Given the description of an element on the screen output the (x, y) to click on. 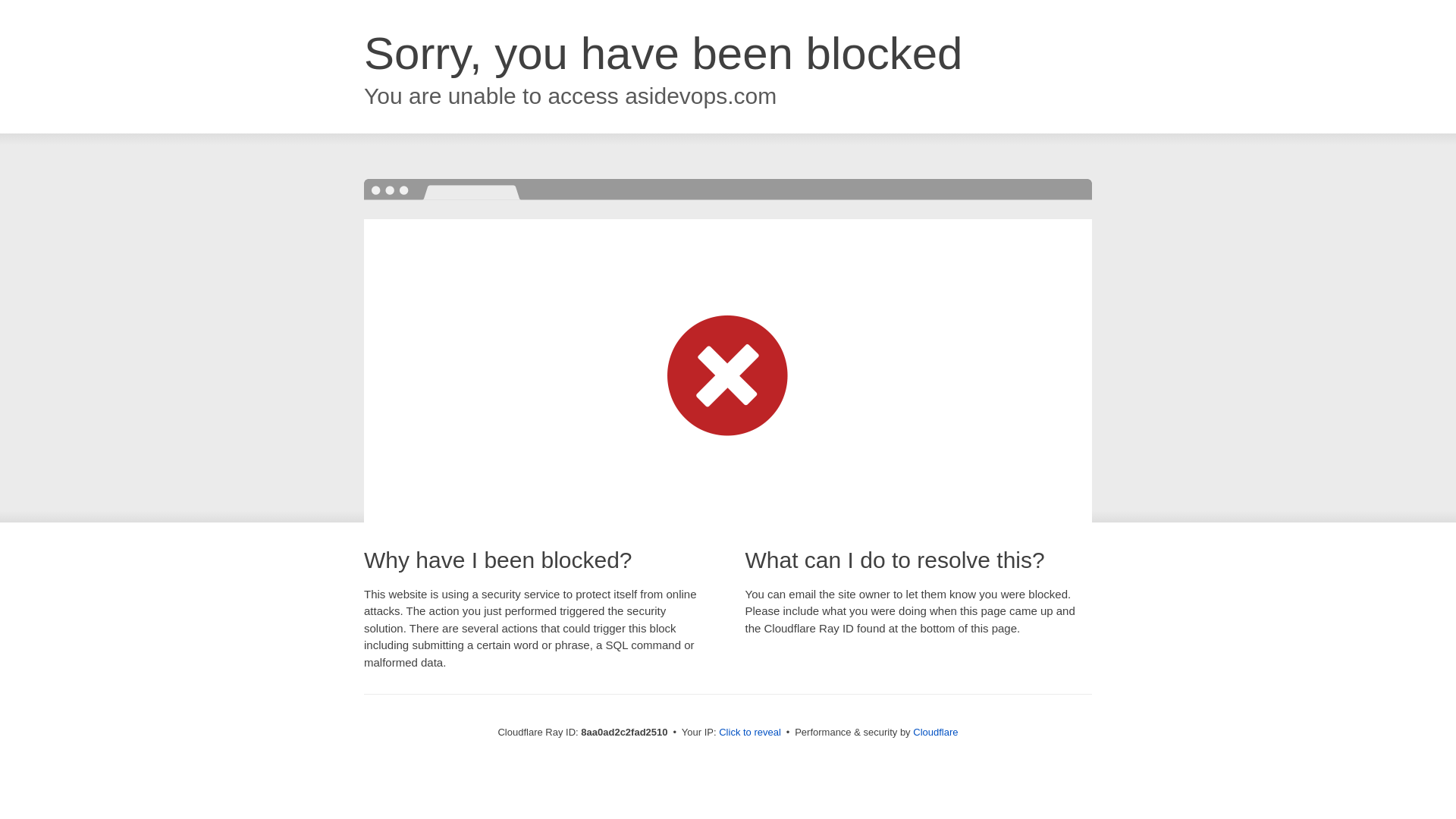
Cloudflare (935, 731)
Click to reveal (749, 732)
